Given the description of an element on the screen output the (x, y) to click on. 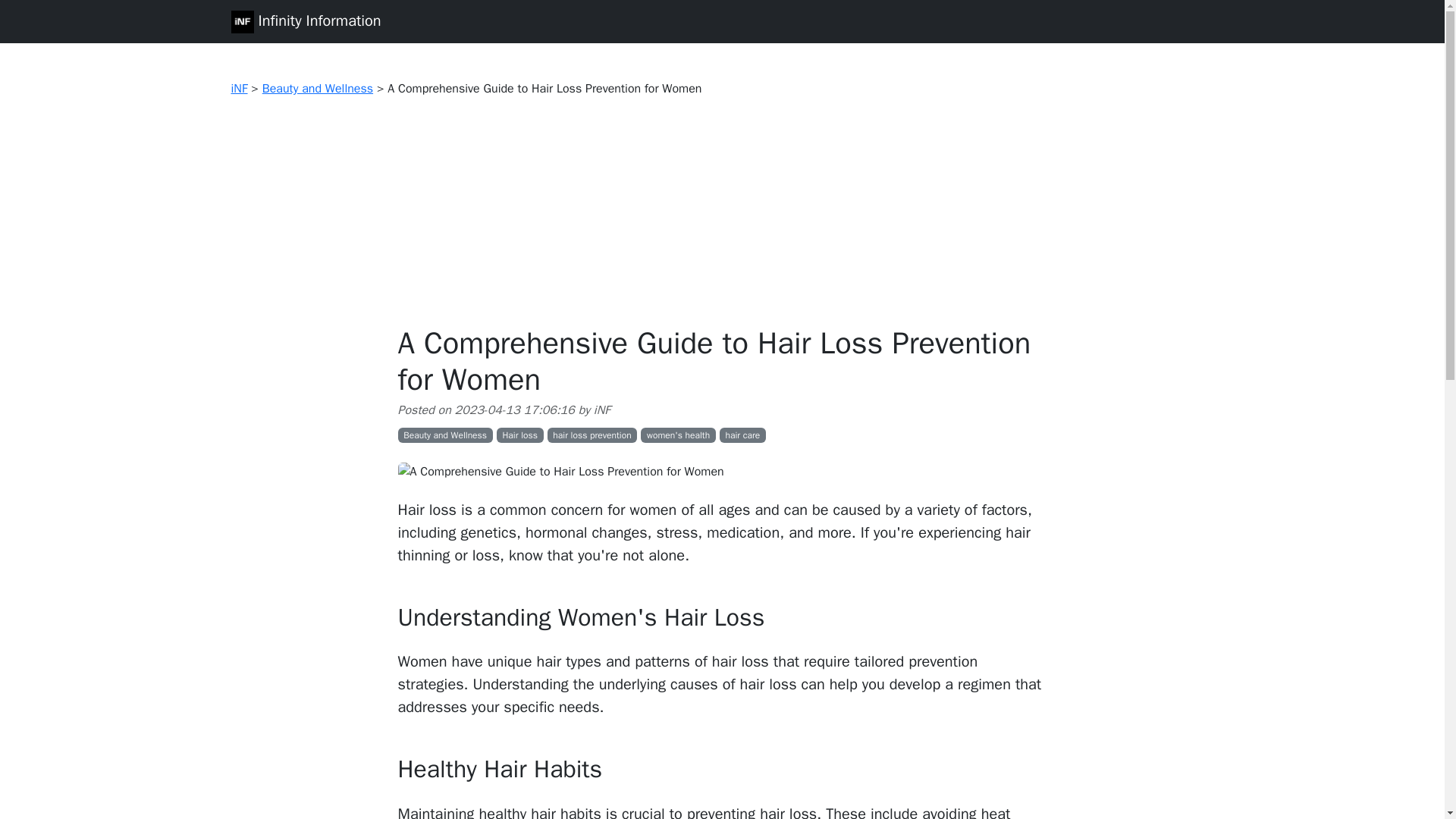
Hair loss (519, 435)
Infinity Information (305, 20)
hair loss prevention (592, 435)
iNF (238, 88)
hair care (742, 435)
Beauty and Wellness (444, 435)
women's health (678, 435)
Beauty and Wellness (317, 88)
